Given the description of an element on the screen output the (x, y) to click on. 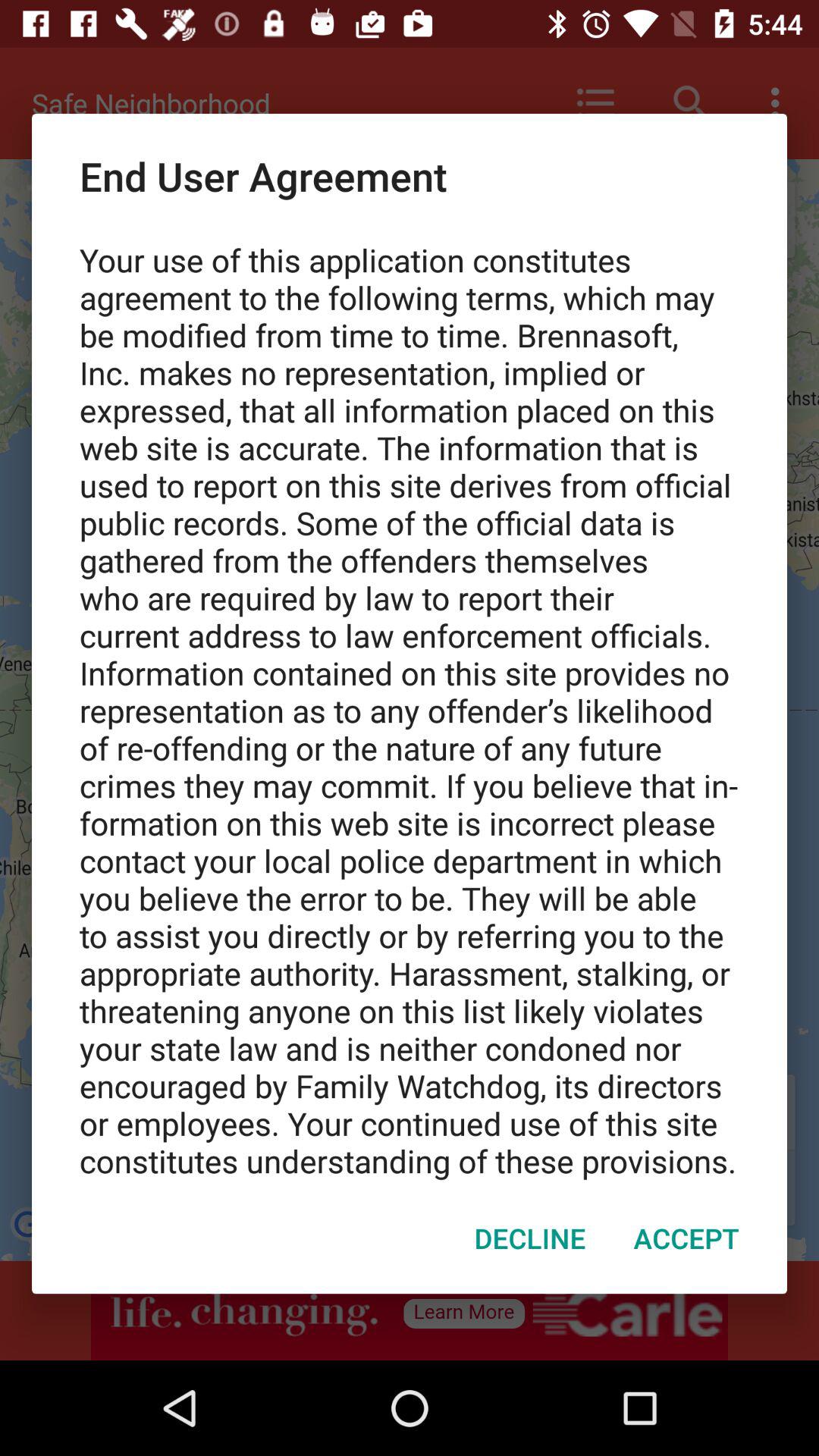
turn on the item next to decline icon (686, 1237)
